Given the description of an element on the screen output the (x, y) to click on. 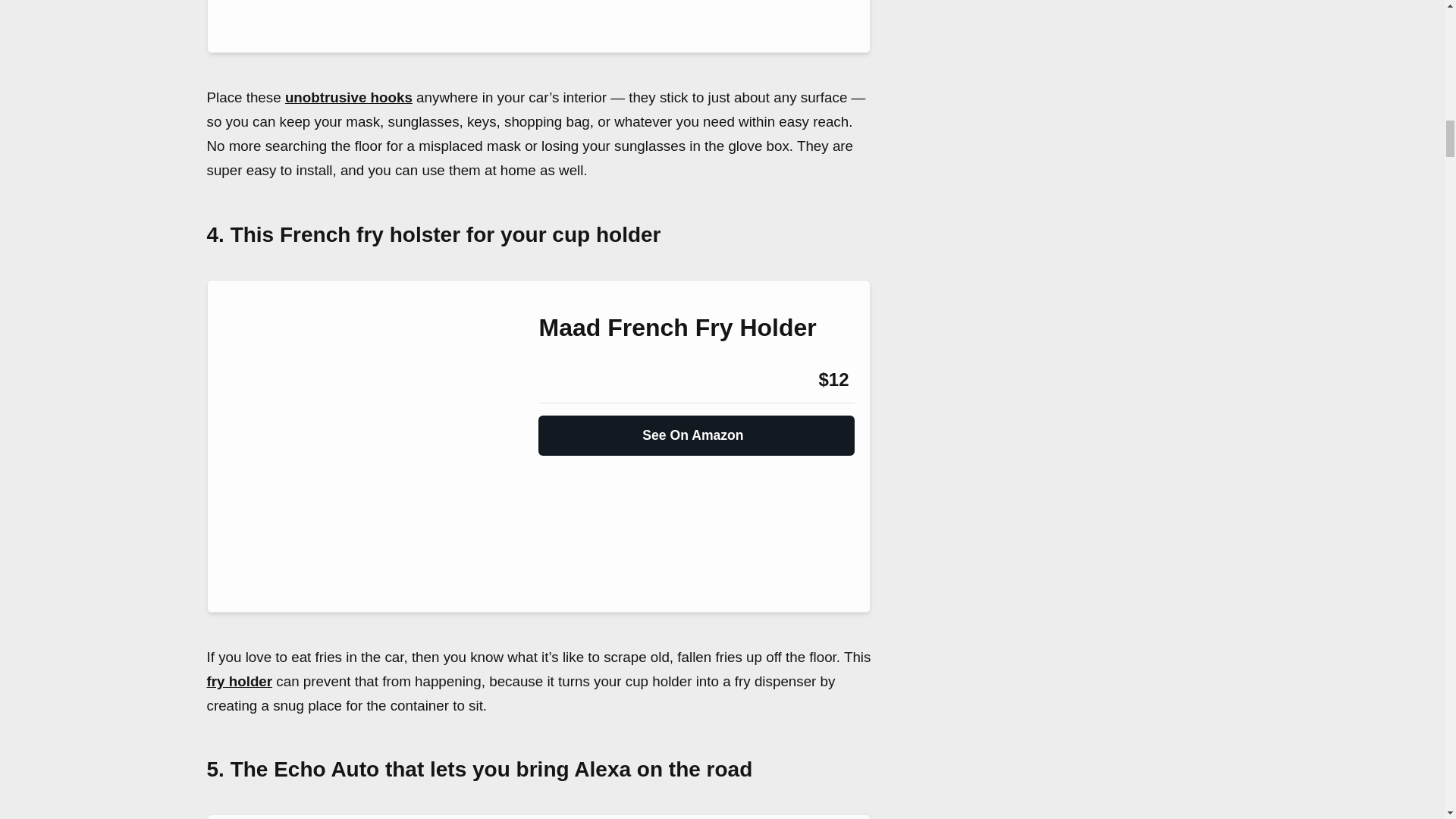
unobtrusive hooks (348, 97)
See On Amazon (696, 428)
fry holder (239, 681)
Amazon (579, 380)
